Given the description of an element on the screen output the (x, y) to click on. 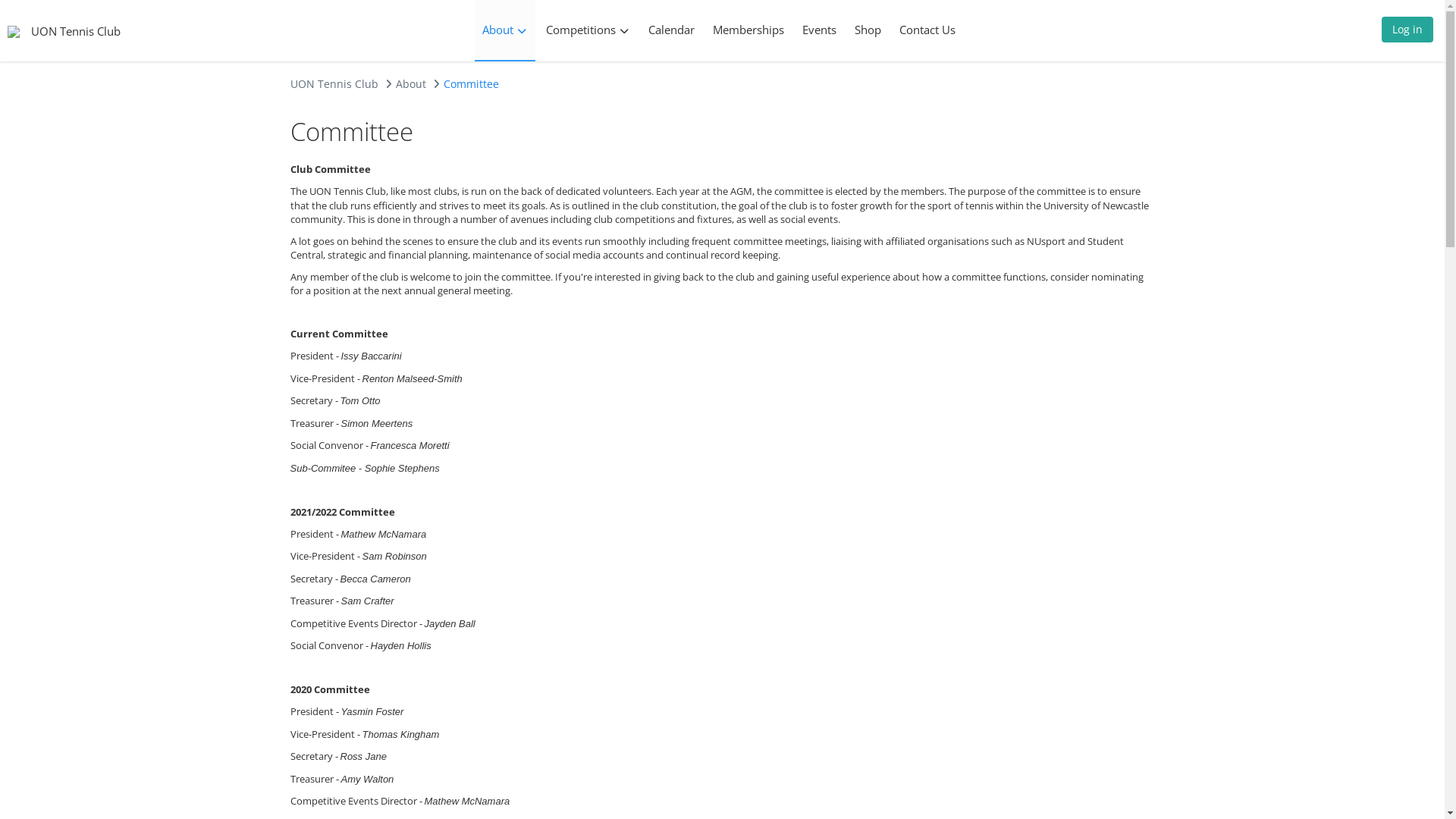
Events Element type: text (819, 29)
Shop Element type: text (867, 29)
Calendar Element type: text (670, 29)
UON Tennis Club Element type: text (333, 83)
Committee Element type: text (470, 83)
Log in Element type: text (1407, 32)
Competitions Element type: text (587, 29)
About Element type: text (504, 30)
Contact Us Element type: text (927, 29)
UON Tennis Club Element type: text (75, 29)
Memberships Element type: text (748, 29)
